Given the description of an element on the screen output the (x, y) to click on. 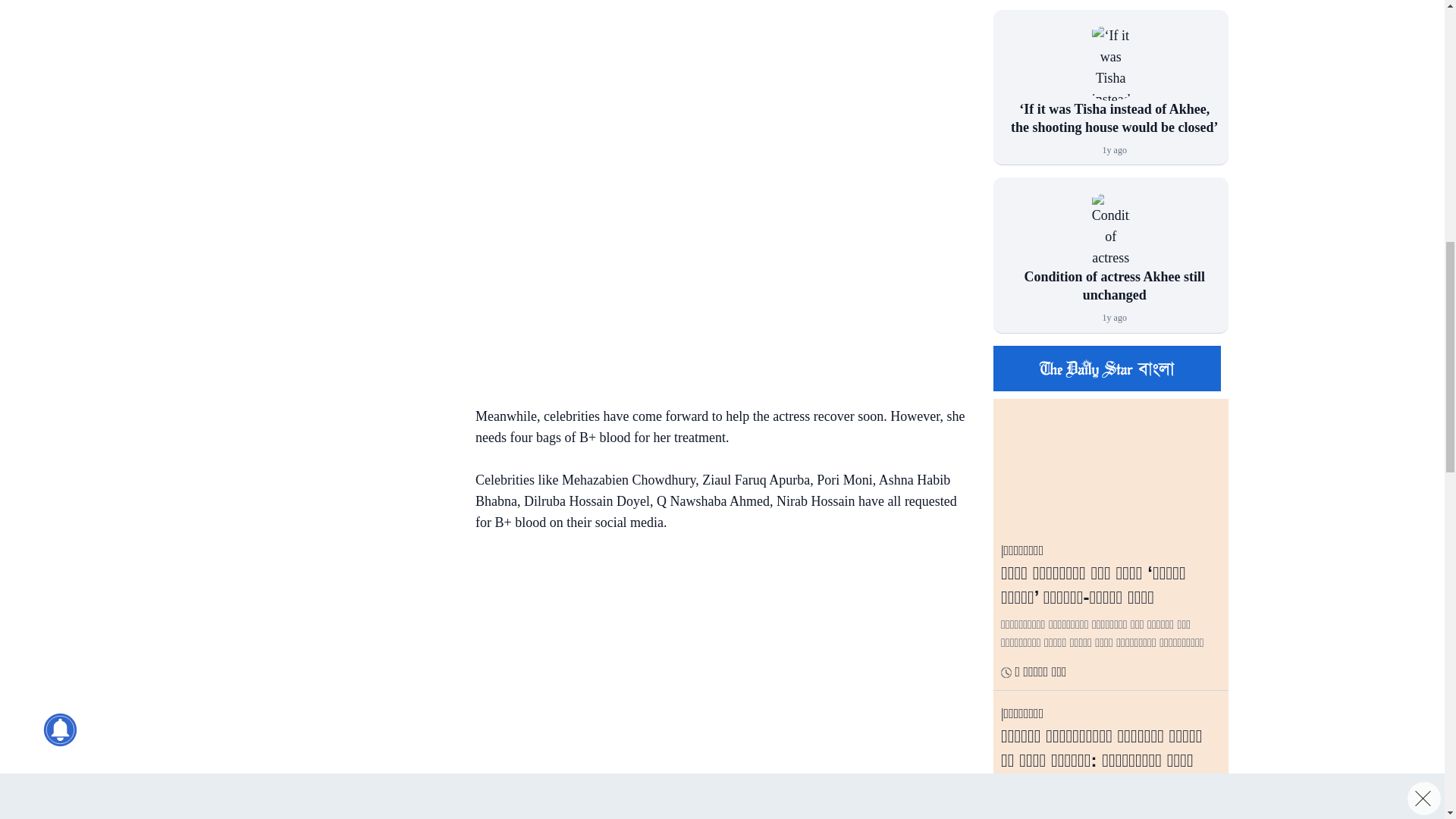
3rd party ad content (332, 12)
3rd party ad content (713, 86)
3rd party ad content (332, 135)
3rd party ad content (713, 648)
